Given the description of an element on the screen output the (x, y) to click on. 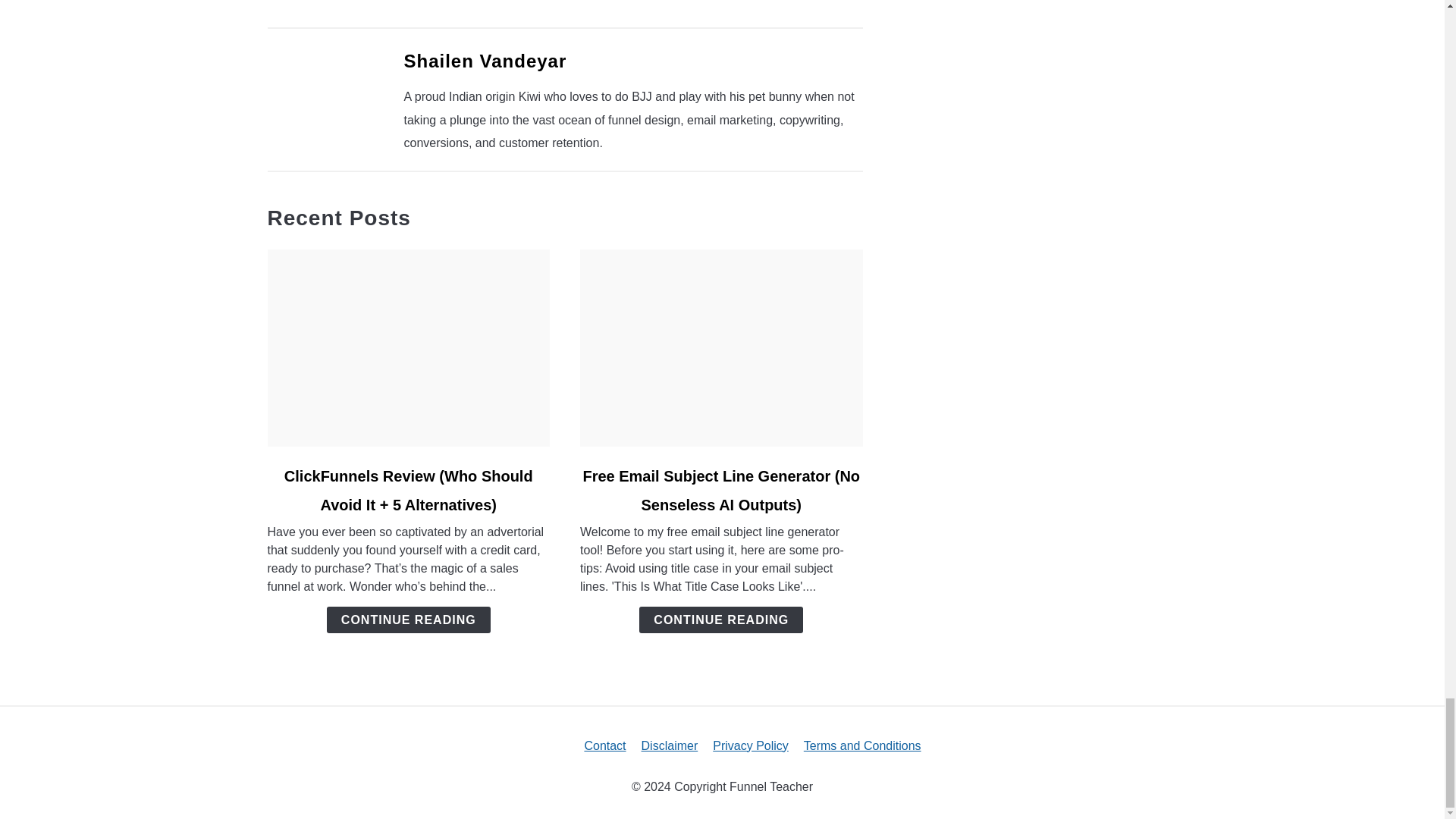
CONTINUE READING (721, 619)
Shailen Vandeyar (484, 60)
Privacy Policy (751, 745)
Terms and Conditions (862, 745)
Contact (604, 745)
Disclaimer (670, 745)
CONTINUE READING (408, 619)
